Given the description of an element on the screen output the (x, y) to click on. 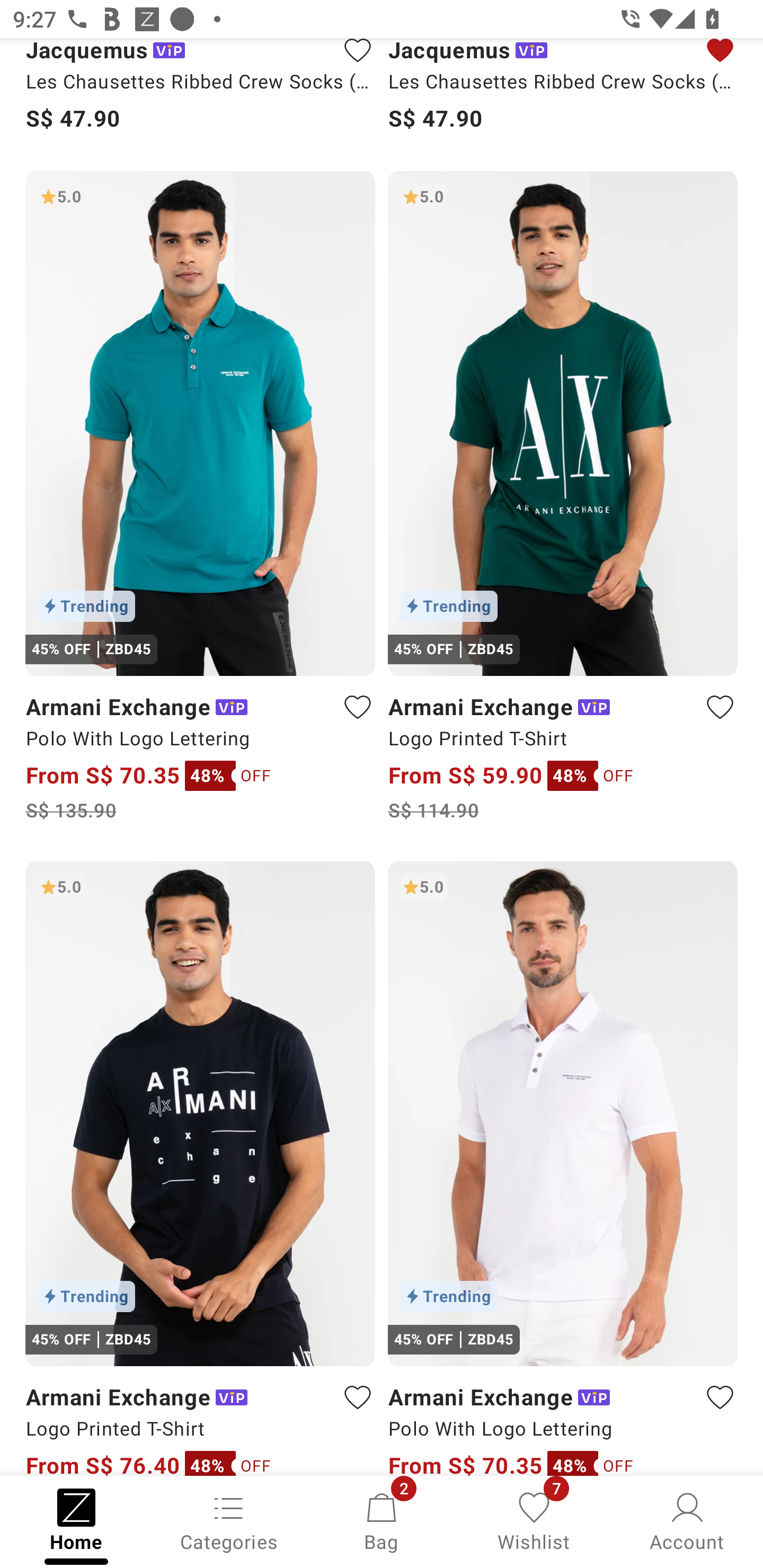
Categories (228, 1519)
Bag, 2 new notifications Bag (381, 1519)
Wishlist, 7 new notifications Wishlist (533, 1519)
Account (686, 1519)
